Given the description of an element on the screen output the (x, y) to click on. 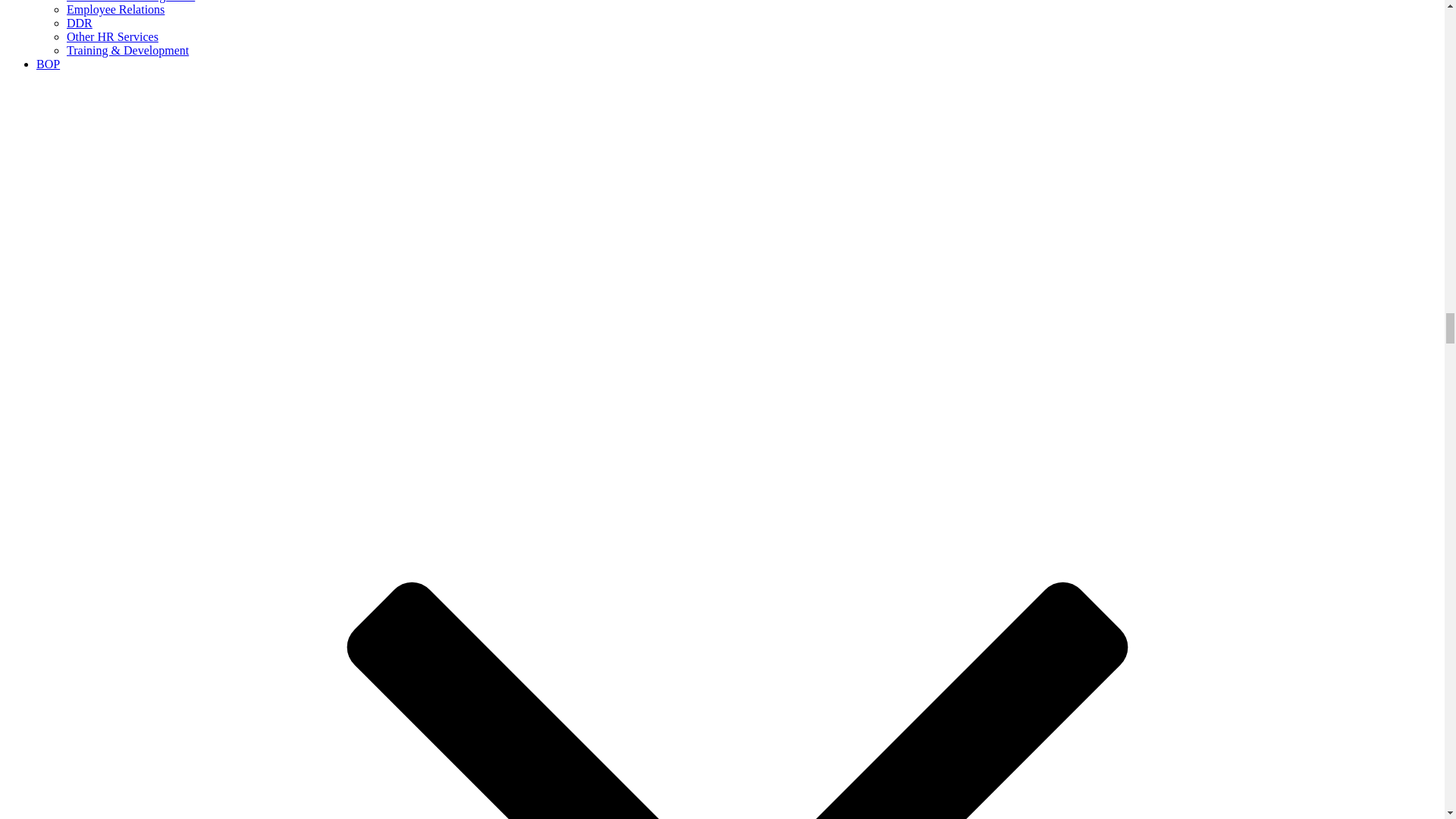
Performance Management (130, 1)
DDR (79, 22)
Employee Relations (115, 9)
Other HR Services (112, 36)
